Given the description of an element on the screen output the (x, y) to click on. 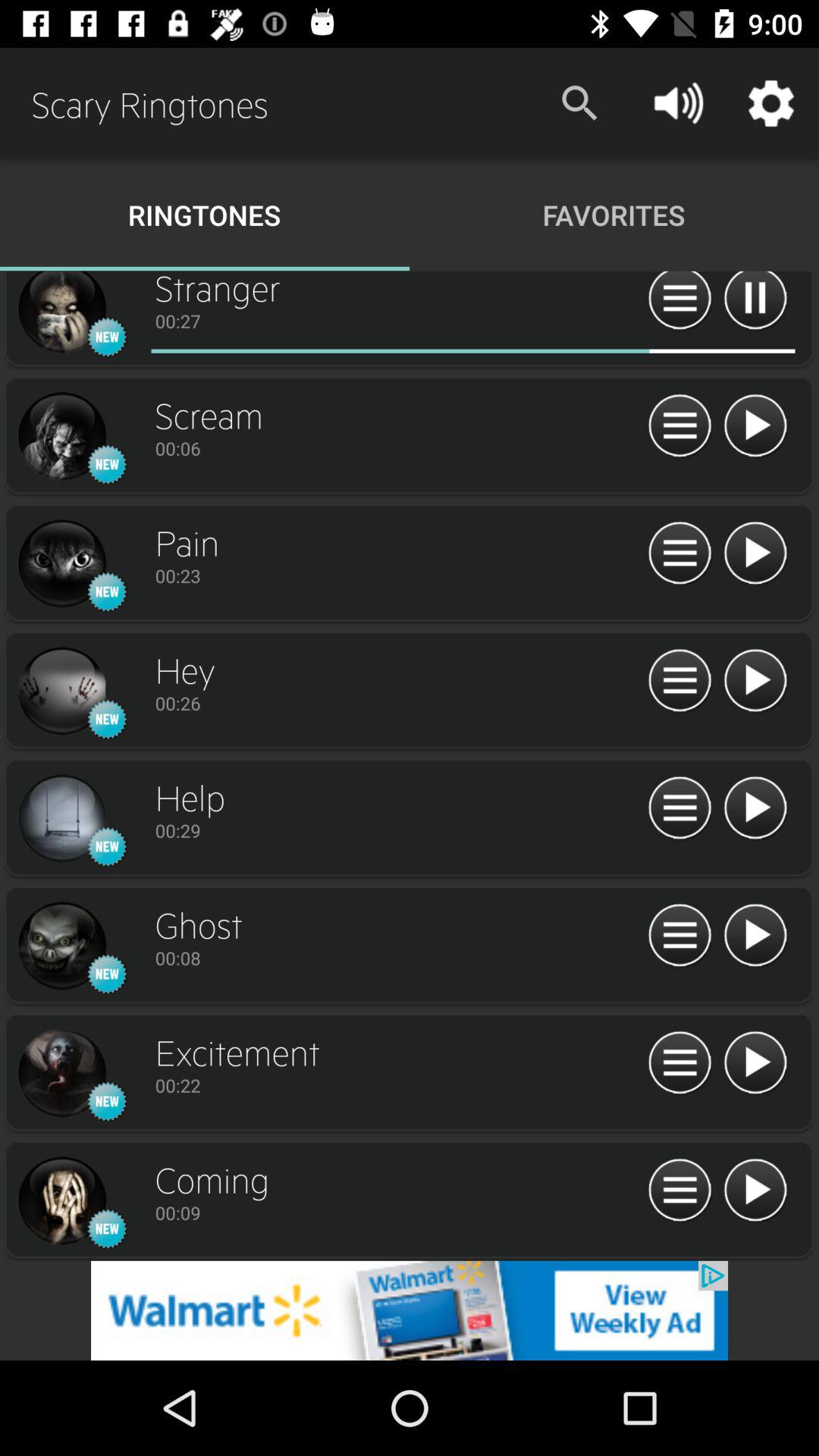
select the add (409, 1310)
